Given the description of an element on the screen output the (x, y) to click on. 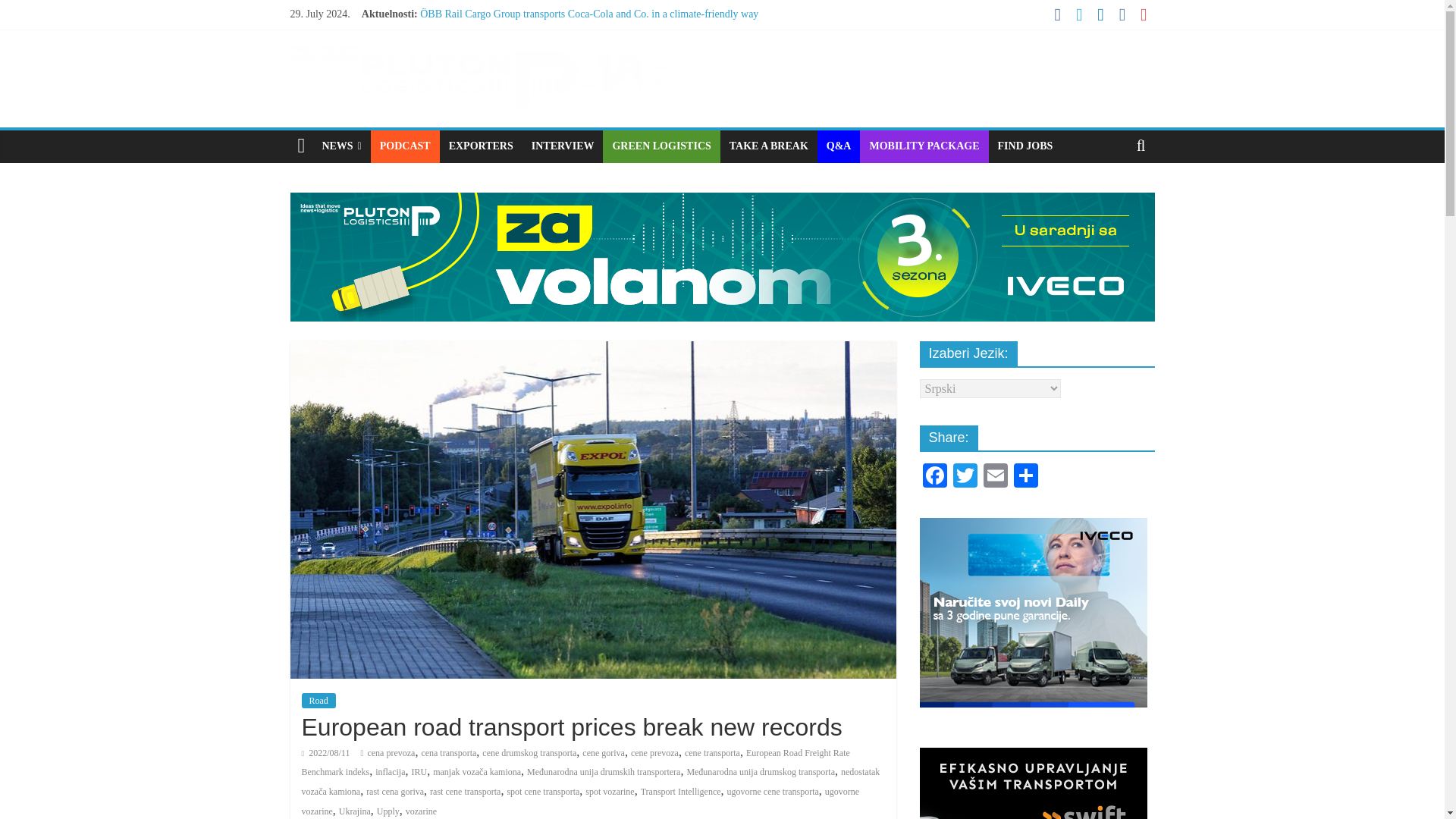
cena transporta (448, 752)
cene drumskog transporta (528, 752)
TRANSLOG Connect Congress 19-20 November 2024 in Budapest (564, 30)
MOBILITY PACKAGE (924, 146)
FIEGE to take on logistics for Hisense Gorenje Austria (536, 81)
FIEGE to take on logistics for Hisense Gorenje Austria (536, 81)
GREEN LOGISTICS (660, 146)
FIND JOBS (1025, 146)
16:12 (325, 752)
cene goriva (603, 752)
TRANSLOG Connect Congress 19-20 November 2024 in Budapest (564, 30)
PODCAST (405, 146)
TAKE A BREAK (768, 146)
NEWS (341, 146)
7 Summer Driving Tips For Truck Drivers (509, 64)
